Given the description of an element on the screen output the (x, y) to click on. 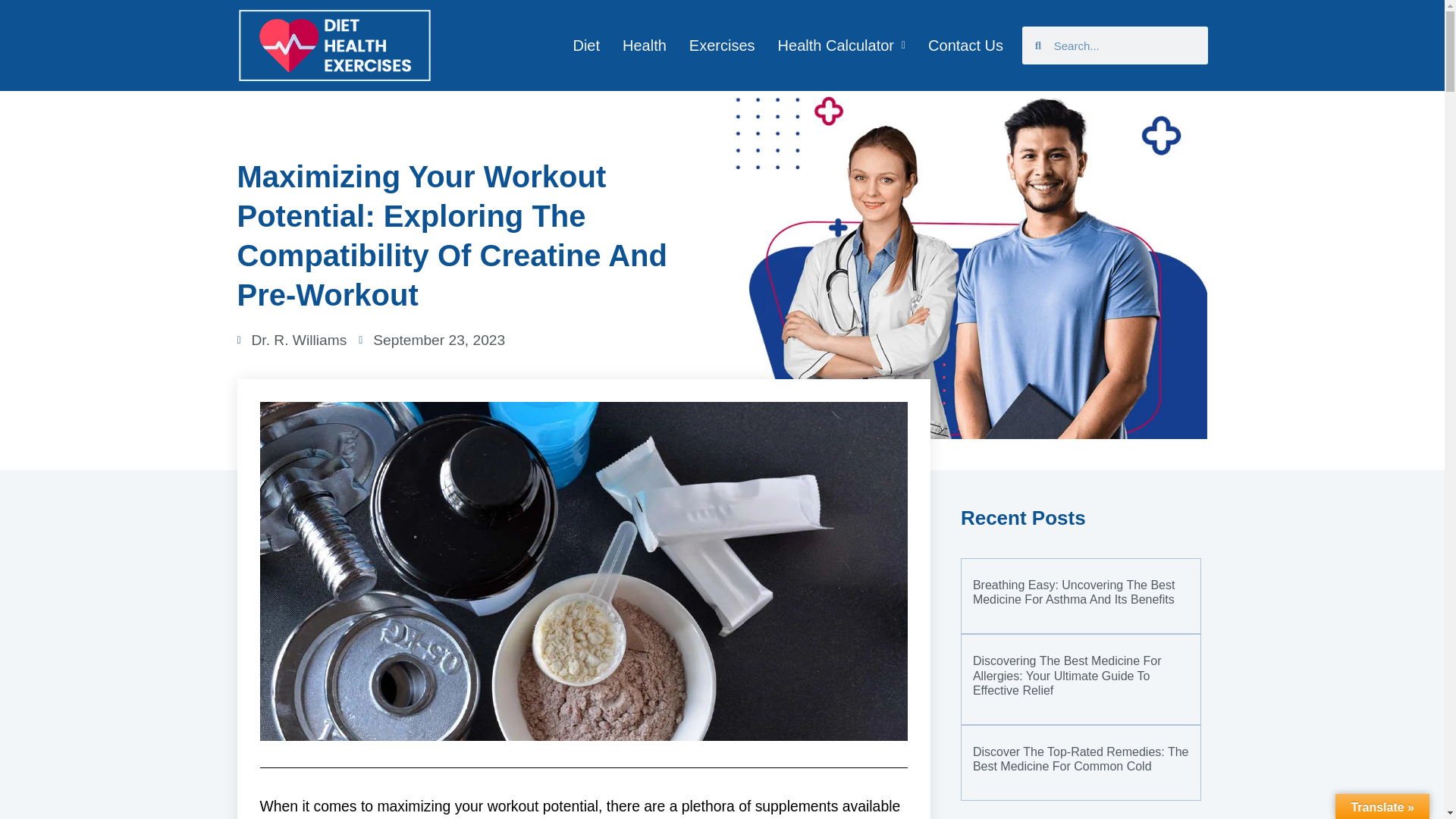
September 23, 2023 (431, 341)
Health Calculator (842, 45)
Contact Us (965, 45)
Health (644, 45)
Exercises (722, 45)
Dr. R. Williams (290, 341)
Advertisement (1080, 817)
Diet (585, 45)
